Given the description of an element on the screen output the (x, y) to click on. 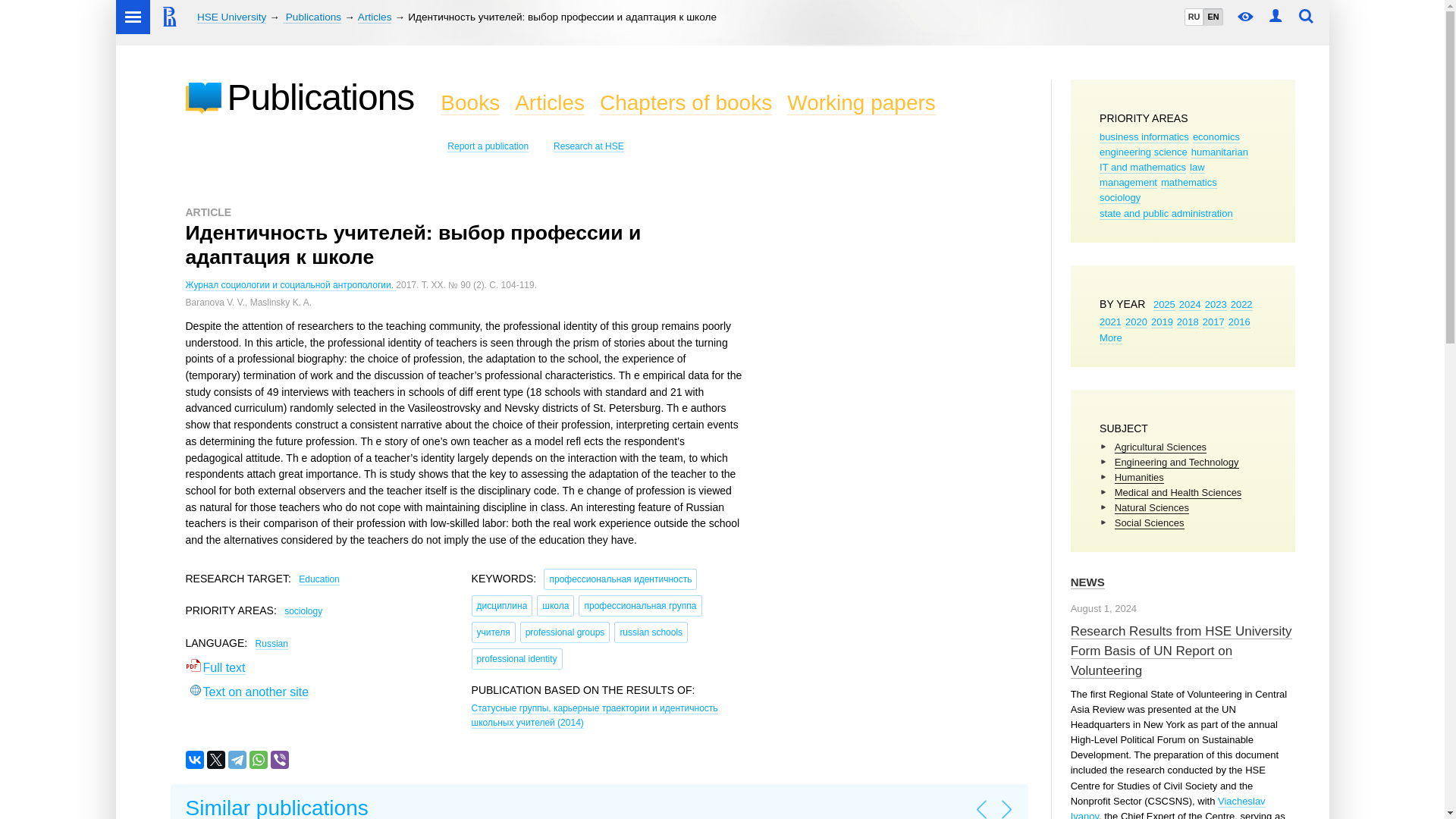
2025 (1163, 304)
2020 (1136, 322)
Articles (374, 17)
2022 (1241, 304)
IT and mathematics (1142, 167)
2018 (1187, 322)
HSE University (231, 17)
business informatics (1144, 137)
EN (1212, 17)
Publications (311, 17)
engineering science (1143, 152)
2019 (1162, 322)
2021 (1110, 322)
sociology (1119, 197)
state and public administration (1166, 214)
